Given the description of an element on the screen output the (x, y) to click on. 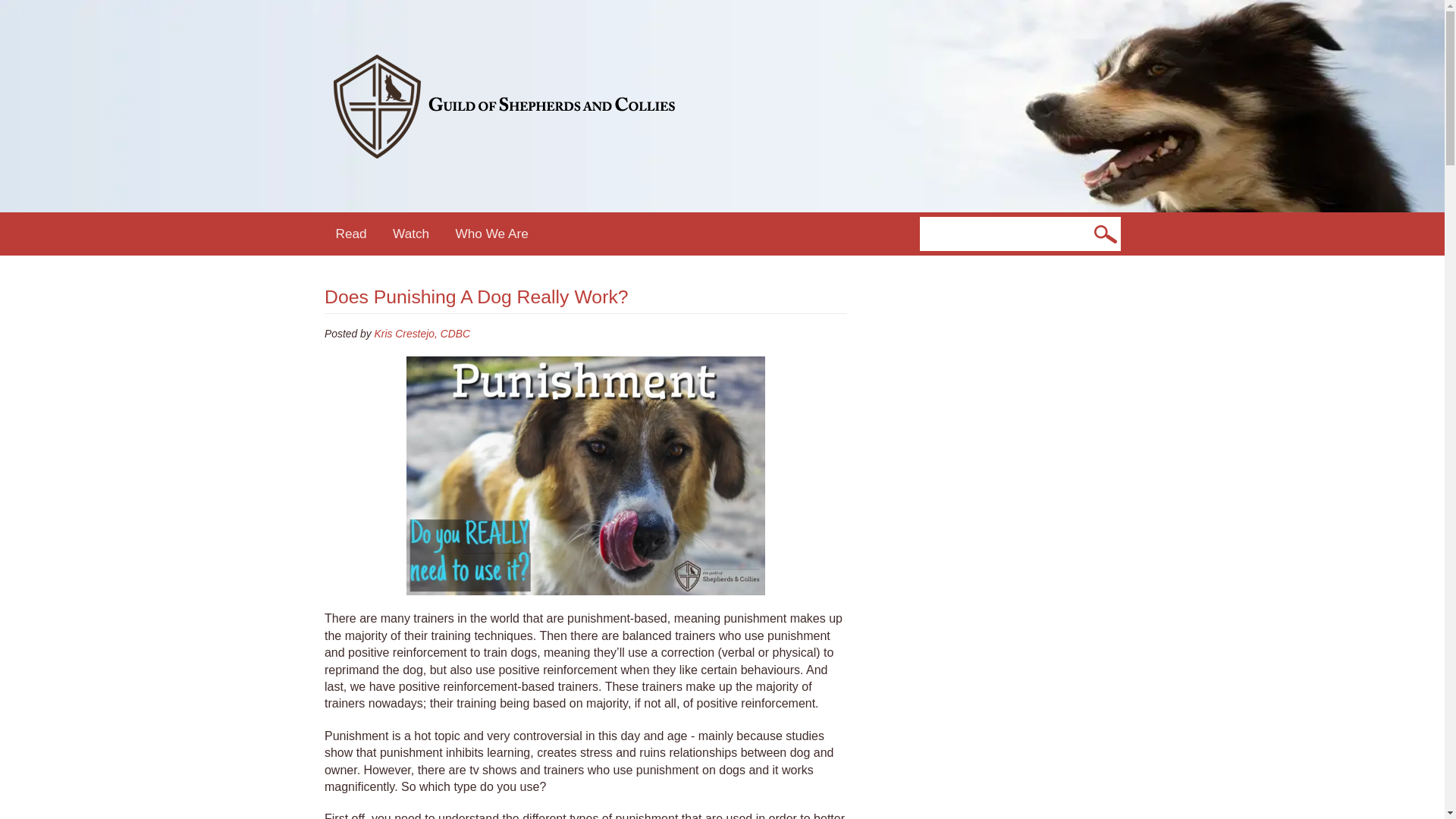
Kris Crestejo, CDBC (422, 333)
Who We Are (492, 233)
Watch (411, 233)
Posts by Kris Crestejo, CDBC (422, 333)
Read (351, 233)
